Given the description of an element on the screen output the (x, y) to click on. 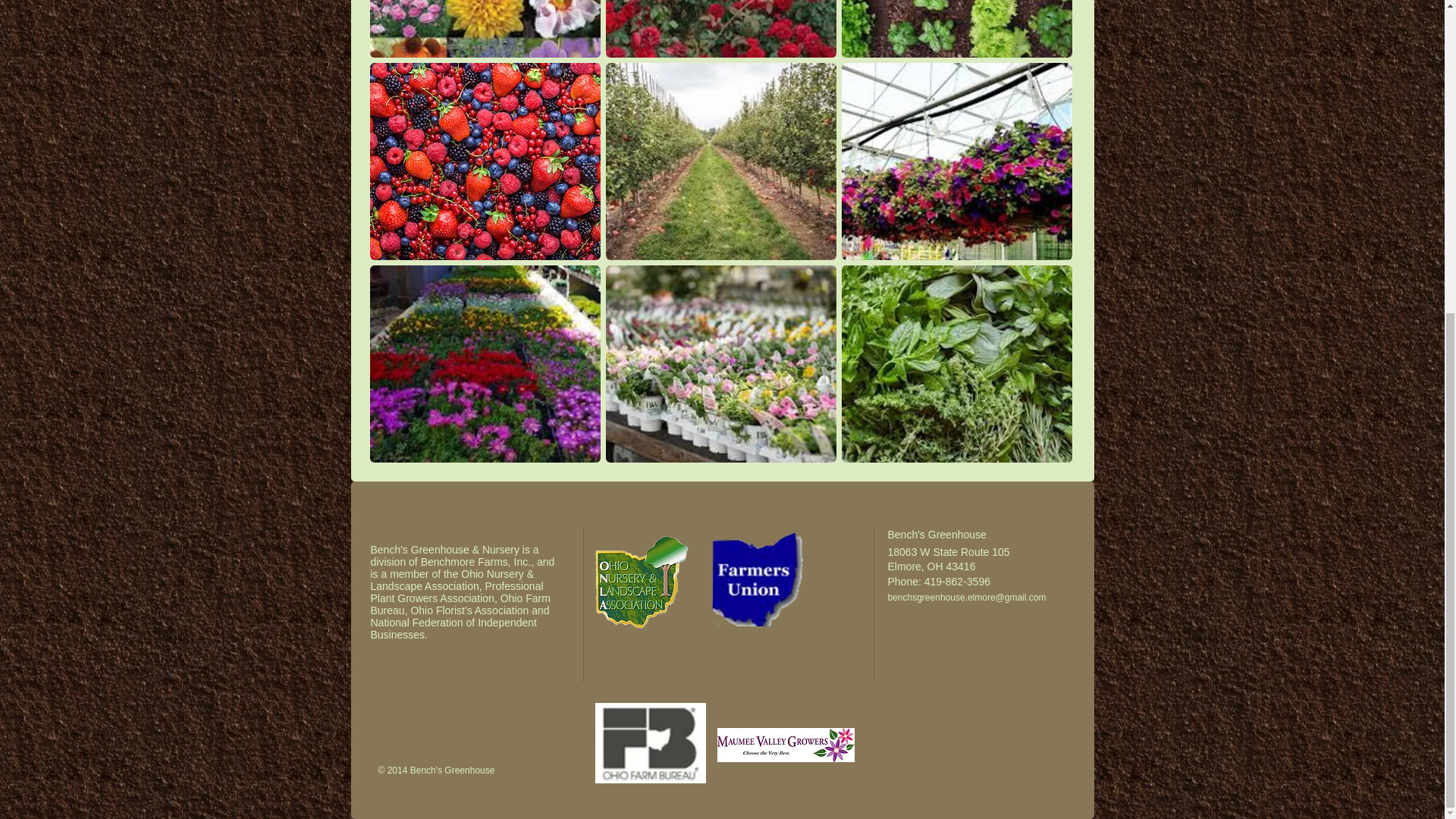
farmersunion.png (758, 576)
onla.png (640, 582)
ohio-farm-bureau-logo.jpg (649, 742)
